Given the description of an element on the screen output the (x, y) to click on. 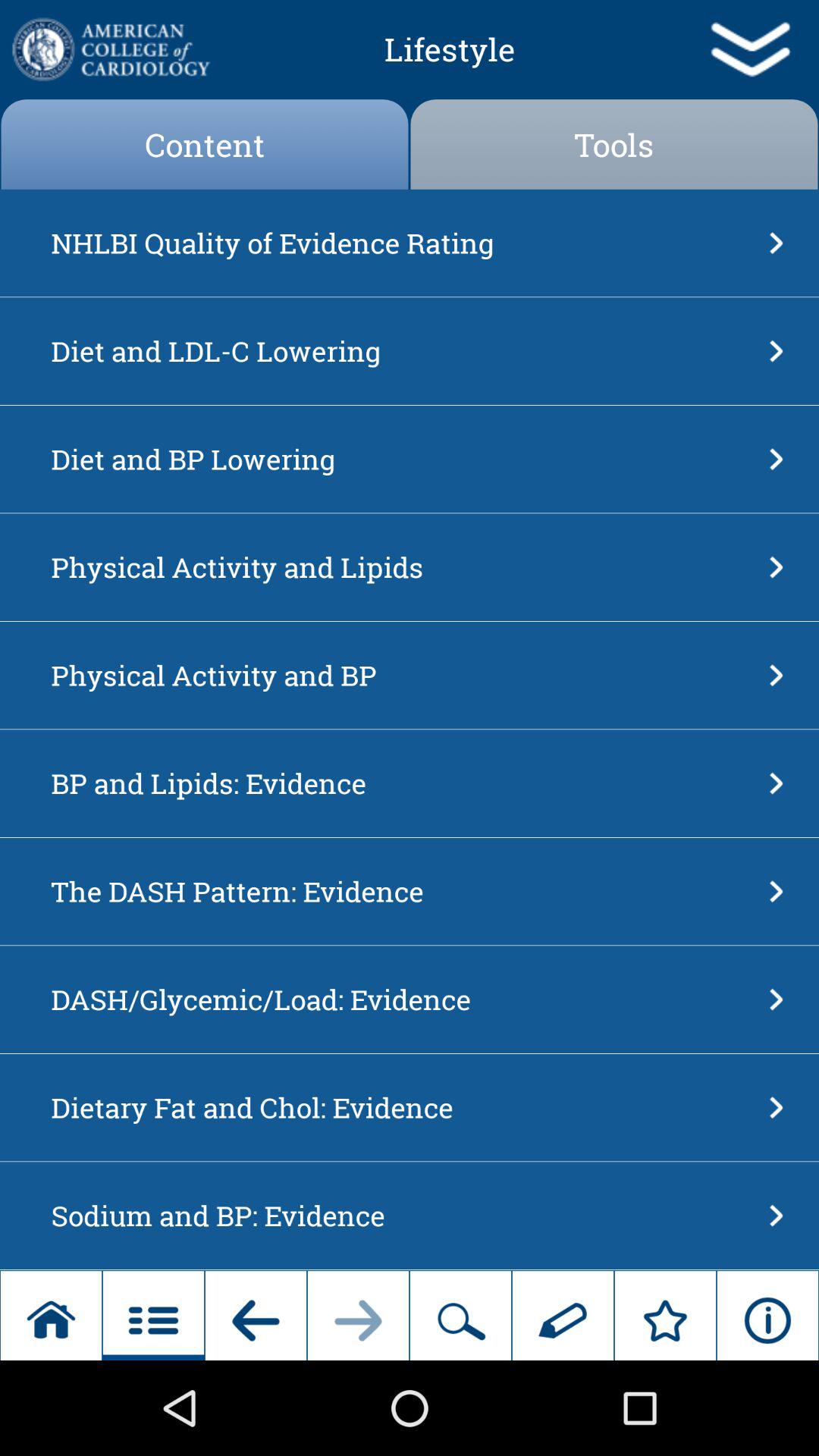
turn off tools button (613, 144)
